Given the description of an element on the screen output the (x, y) to click on. 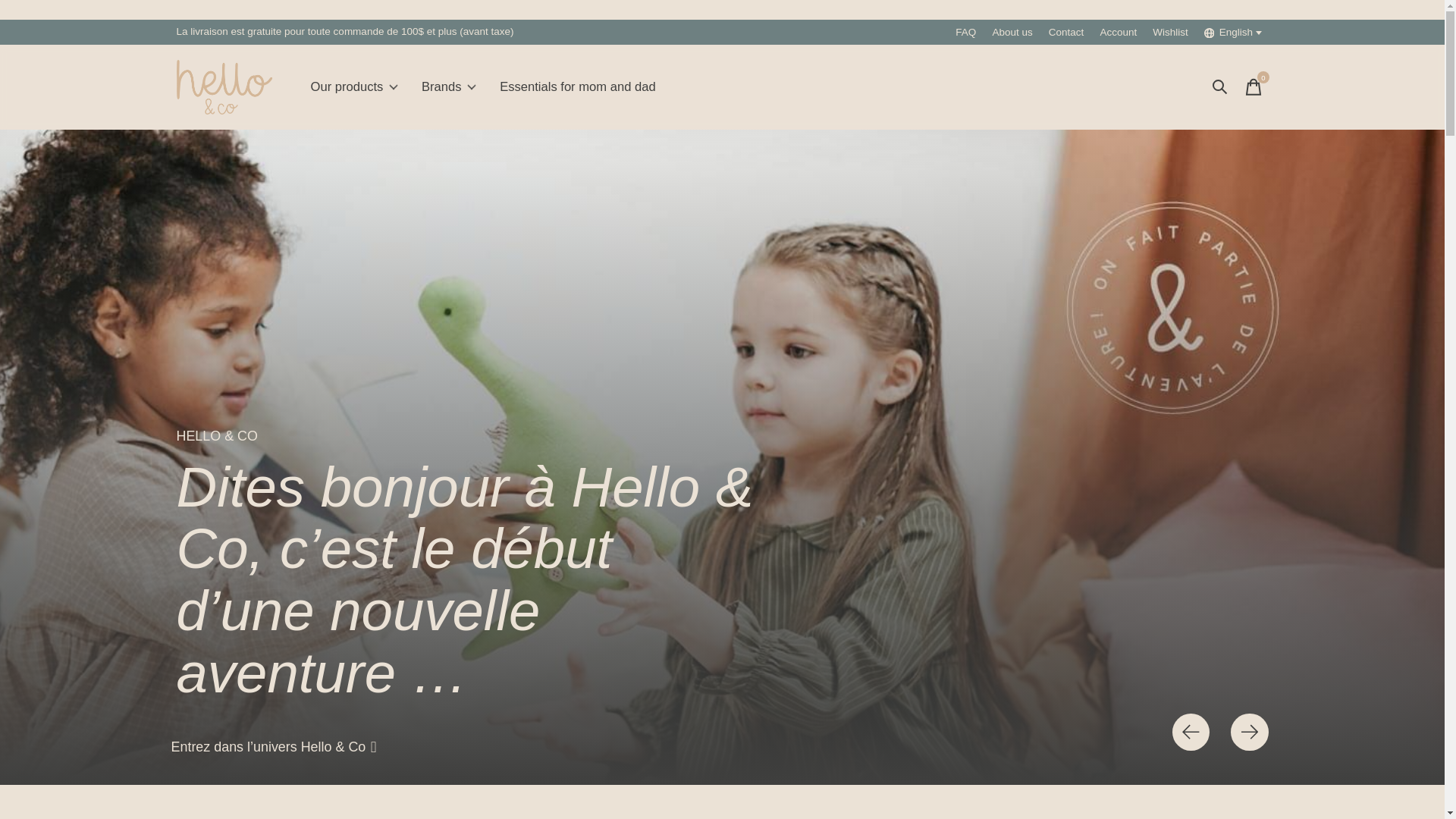
Account (1117, 32)
Wishlist (1170, 32)
About us (1011, 32)
Contact (1066, 32)
FAQ (965, 32)
English (1233, 32)
About us (1011, 32)
Our products (353, 87)
Essentials for mom and dad (577, 87)
Contact (783, 87)
FAQ (1066, 32)
